Given the description of an element on the screen output the (x, y) to click on. 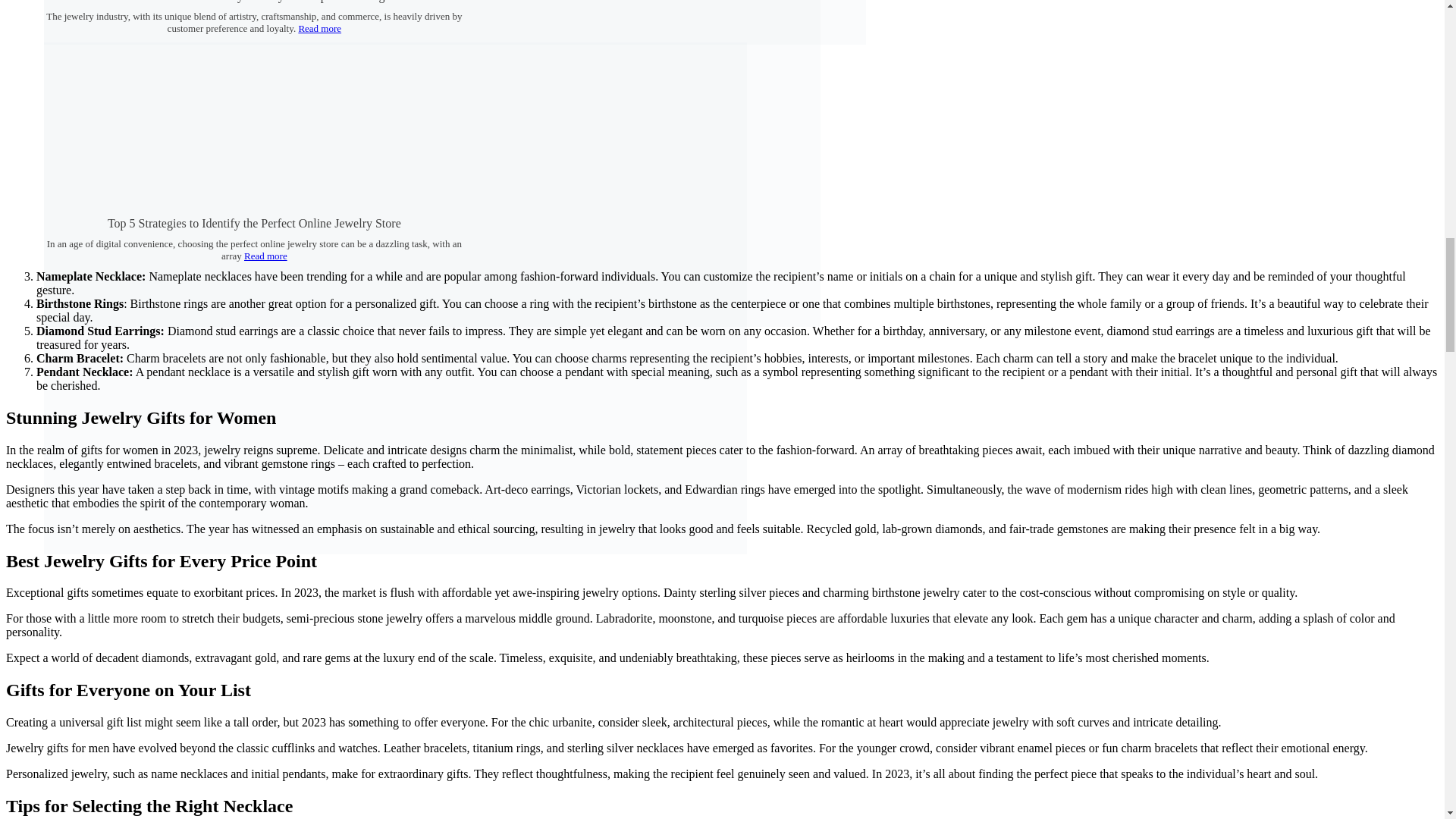
What Makes Customers Buy Jewelry from Specific Designers (432, 322)
Read more (265, 255)
Read more (319, 28)
How to Spot a Fake Cartier Love Bracelet (454, 40)
